Given the description of an element on the screen output the (x, y) to click on. 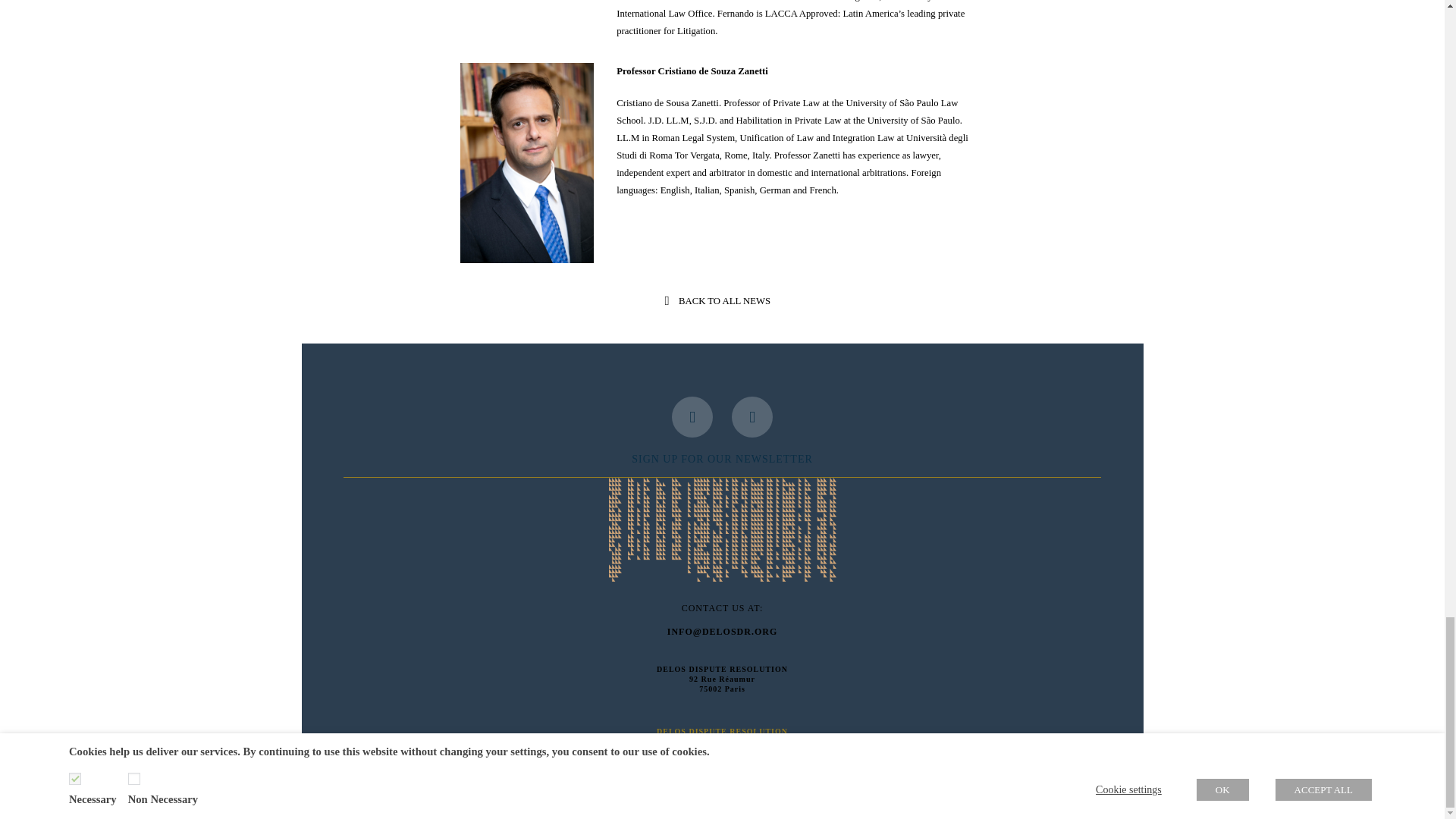
LinkedIn (752, 416)
Facebook (692, 416)
